Given the description of an element on the screen output the (x, y) to click on. 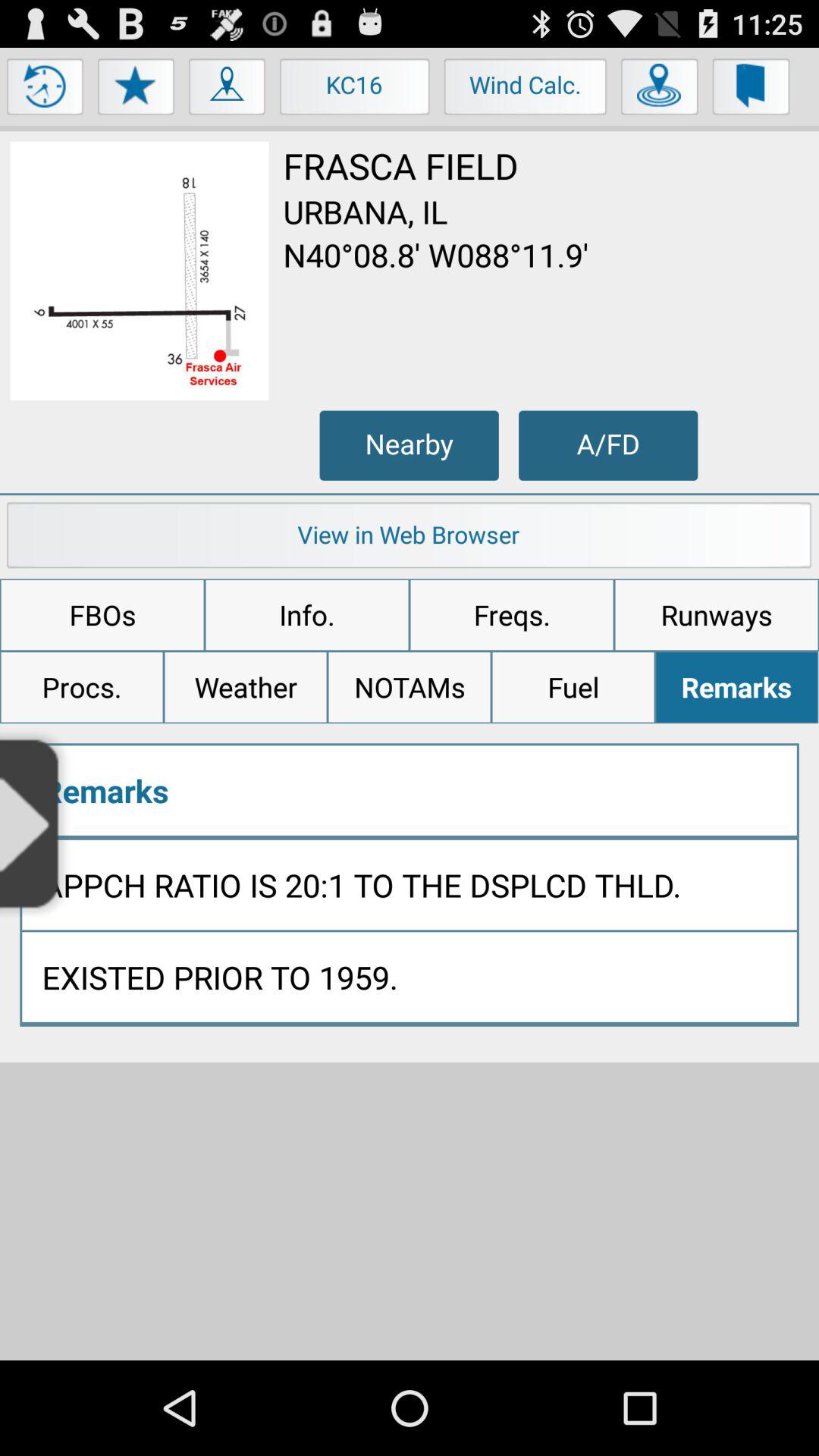
click to location (659, 90)
